Given the description of an element on the screen output the (x, y) to click on. 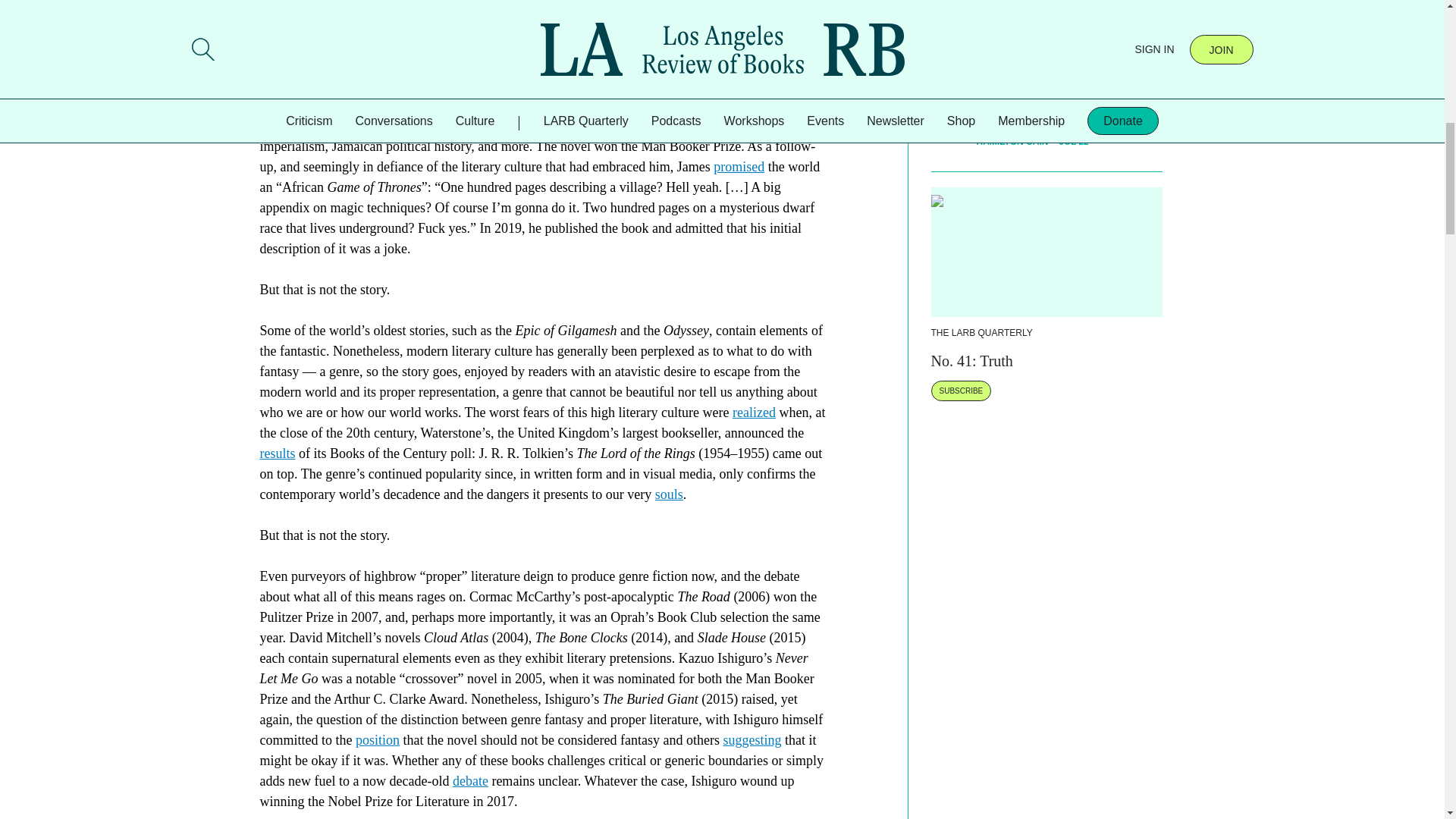
position (376, 739)
realized (754, 412)
promised (738, 166)
debate (469, 780)
results (277, 453)
souls (668, 494)
suggesting (751, 739)
